Given the description of an element on the screen output the (x, y) to click on. 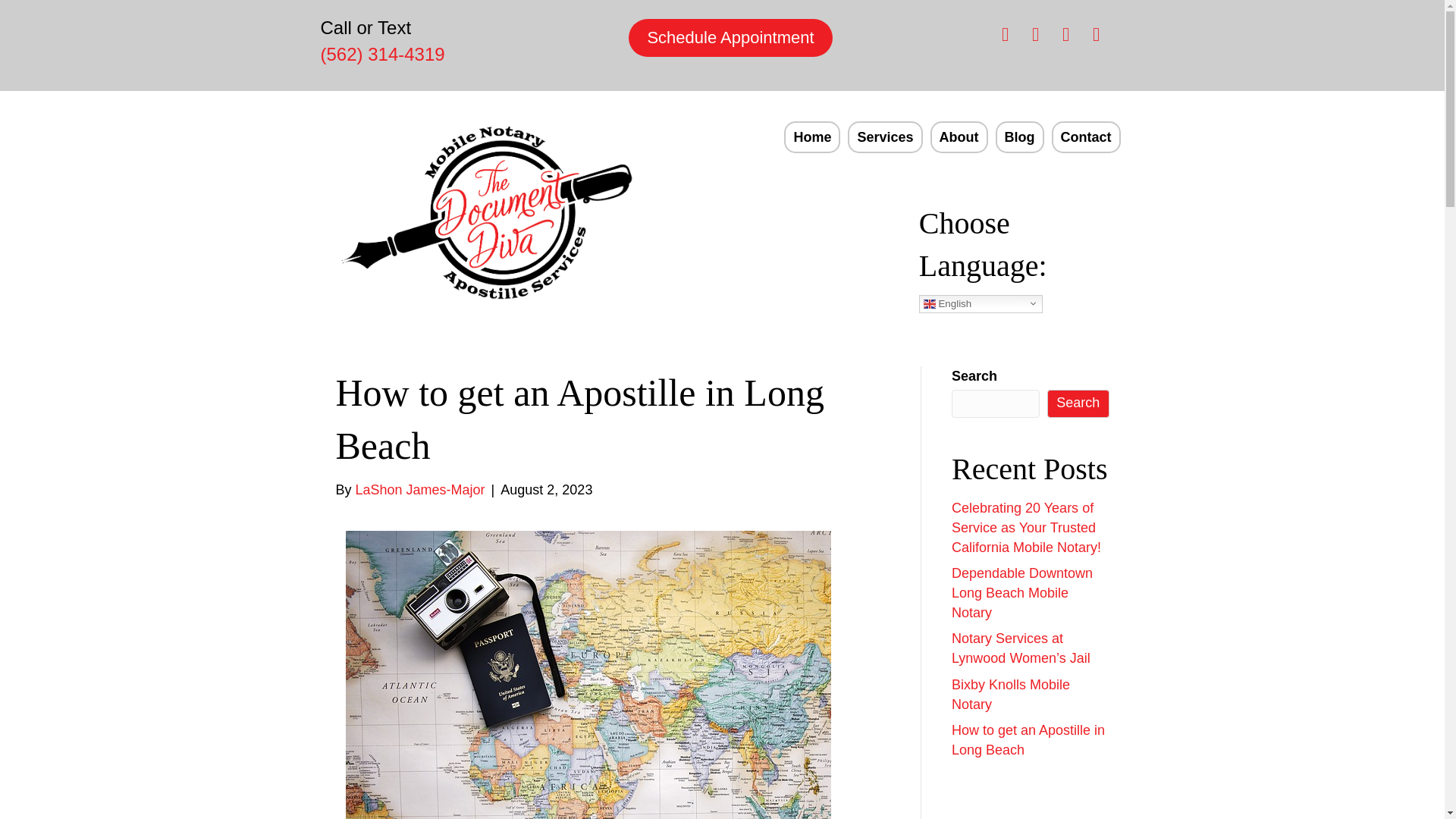
Search (1077, 403)
Document Diva Logo white bg-14 (486, 214)
English (980, 303)
Schedule Appointment (729, 37)
Blog (1018, 137)
LaShon James-Major (419, 489)
Services (884, 137)
Contact (1085, 137)
About (959, 137)
Home (812, 137)
